Given the description of an element on the screen output the (x, y) to click on. 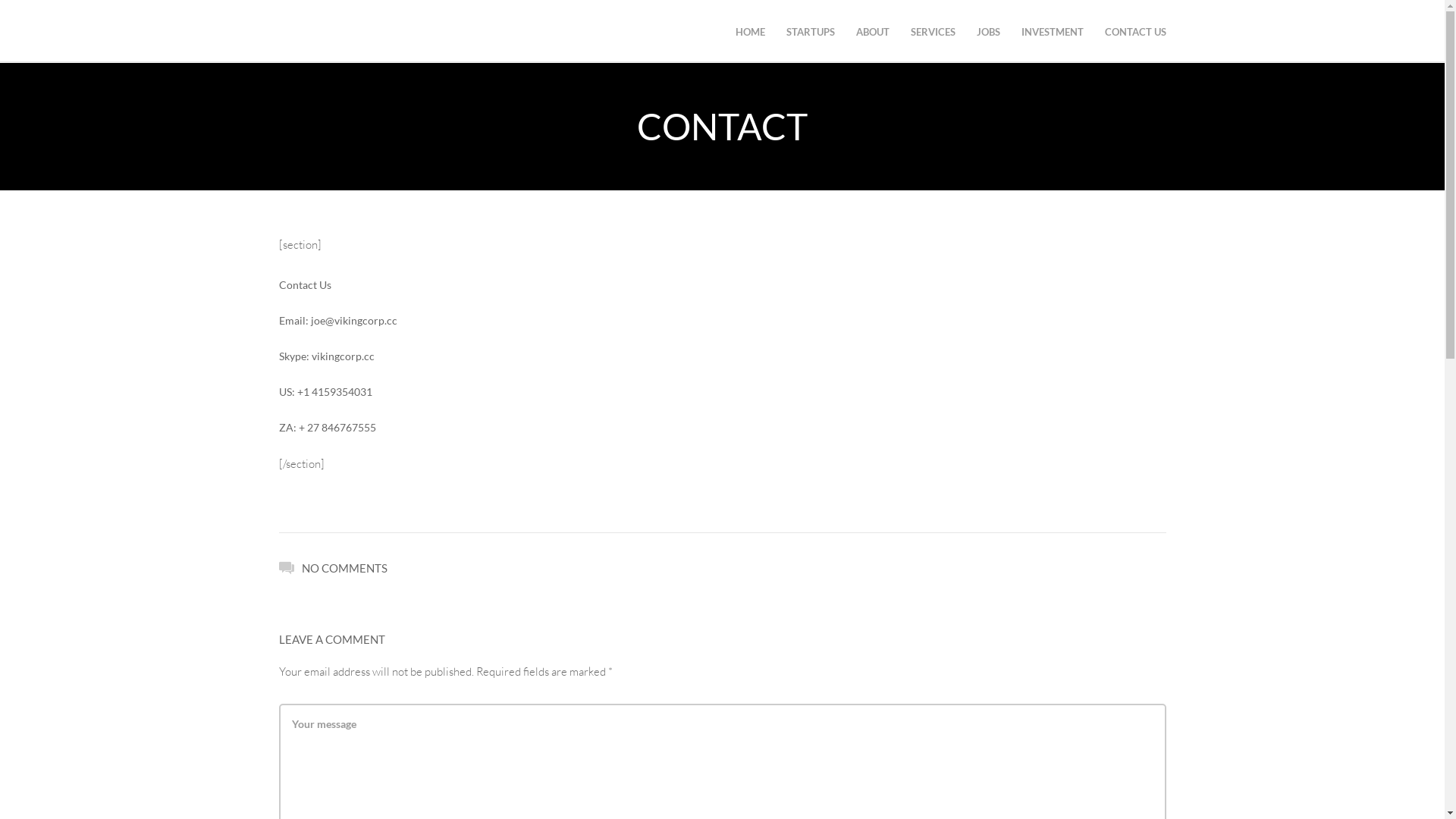
SERVICES Element type: text (932, 31)
ABOUT Element type: text (871, 31)
STARTUPS Element type: text (809, 31)
HOME Element type: text (750, 31)
NO COMMENTS Element type: text (333, 566)
CONTACT US Element type: text (1134, 31)
INVESTMENT Element type: text (1051, 31)
JOBS Element type: text (988, 31)
